Given the description of an element on the screen output the (x, y) to click on. 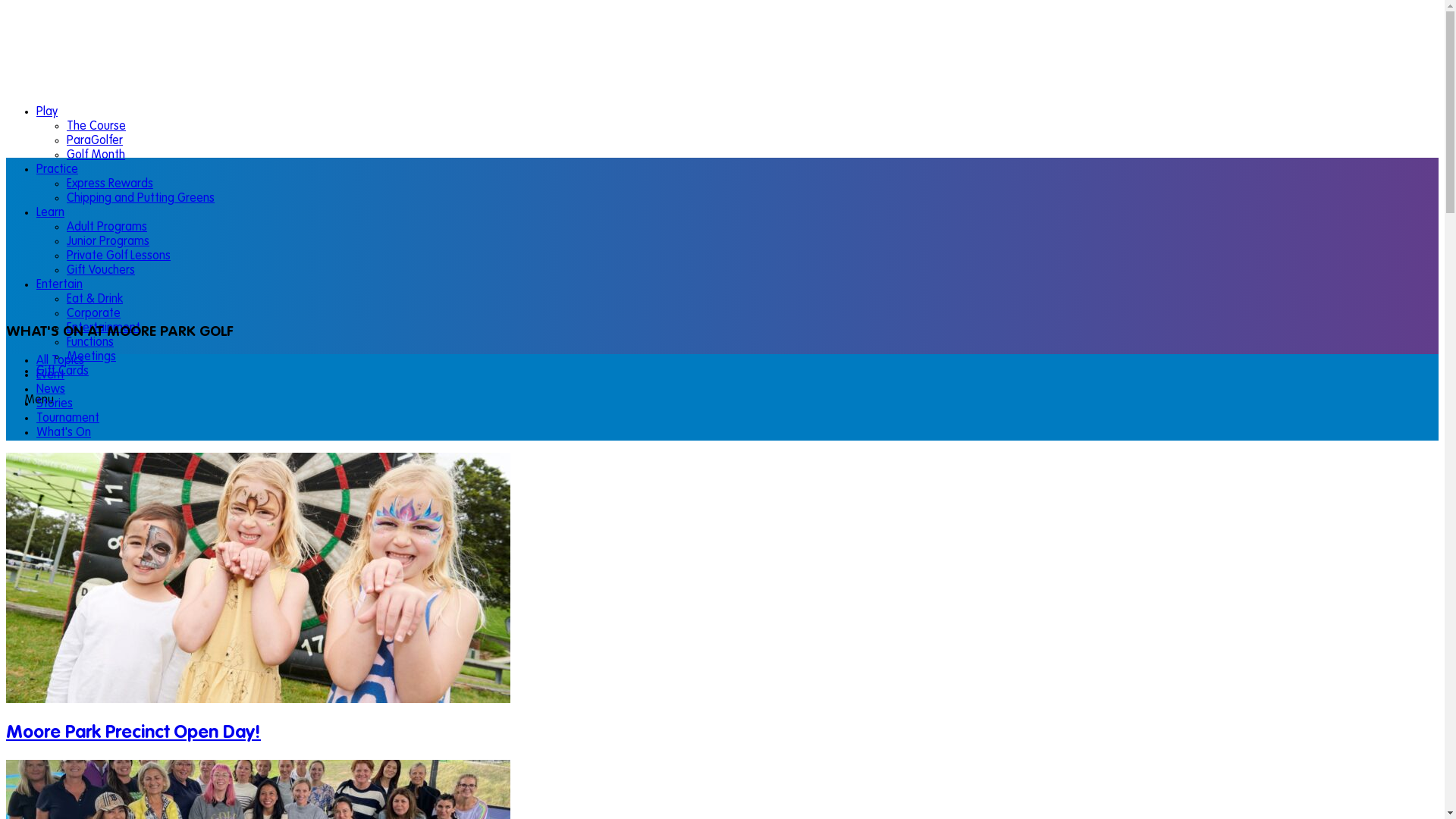
Chipping and Putting Greens Element type: text (140, 198)
Corporate Element type: text (93, 313)
What's On Element type: text (63, 432)
ParaGolfer Element type: text (94, 140)
All Topics Element type: text (60, 360)
Junior Programs Element type: text (107, 241)
Private Golf Lessons Element type: text (118, 256)
Stories Element type: text (54, 404)
Gift Vouchers Element type: text (100, 270)
Entertain Element type: text (59, 285)
Entertainment Element type: text (103, 328)
Tournament Element type: text (67, 418)
Express Rewards Element type: text (109, 184)
Play Element type: text (46, 112)
Eat & Drink Element type: text (94, 299)
Event Element type: text (50, 375)
The Course Element type: text (95, 126)
Functions Element type: text (89, 342)
Meetings Element type: text (91, 357)
Practice Element type: text (57, 169)
Golf Shop Element type: text (61, 799)
Gift Cards Element type: text (62, 371)
Adult Programs Element type: text (106, 227)
Moore Park Precinct Open Day! Element type: text (133, 733)
Golf Month Element type: text (95, 155)
News Element type: text (50, 389)
Learn Element type: text (50, 213)
